Given the description of an element on the screen output the (x, y) to click on. 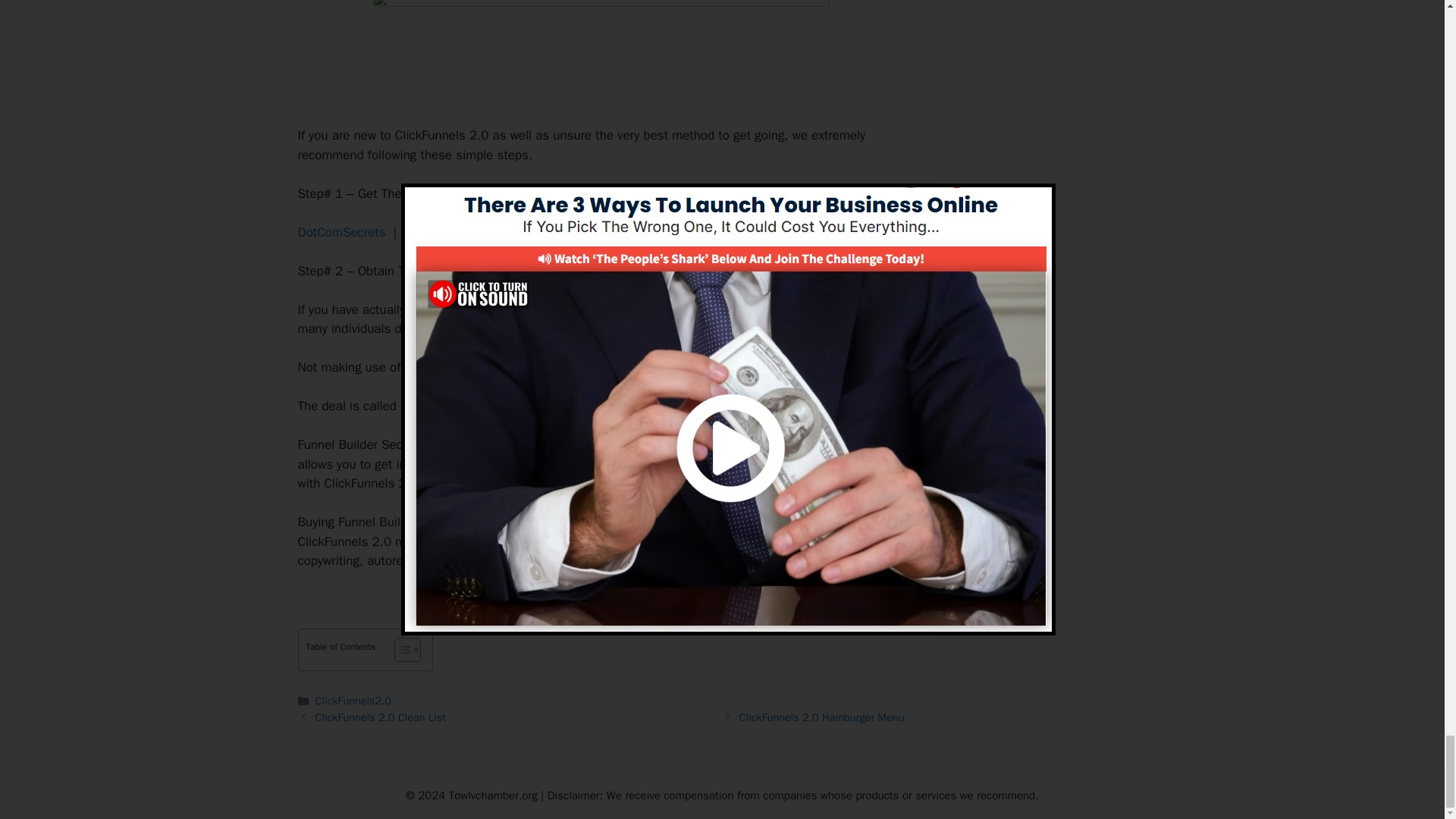
ClickFunnels 2.0 (520, 309)
Traffic Secrets (545, 232)
DotComSecrets (341, 232)
Expert Secrets (445, 232)
Funnel Builder Secrets (463, 406)
